Given the description of an element on the screen output the (x, y) to click on. 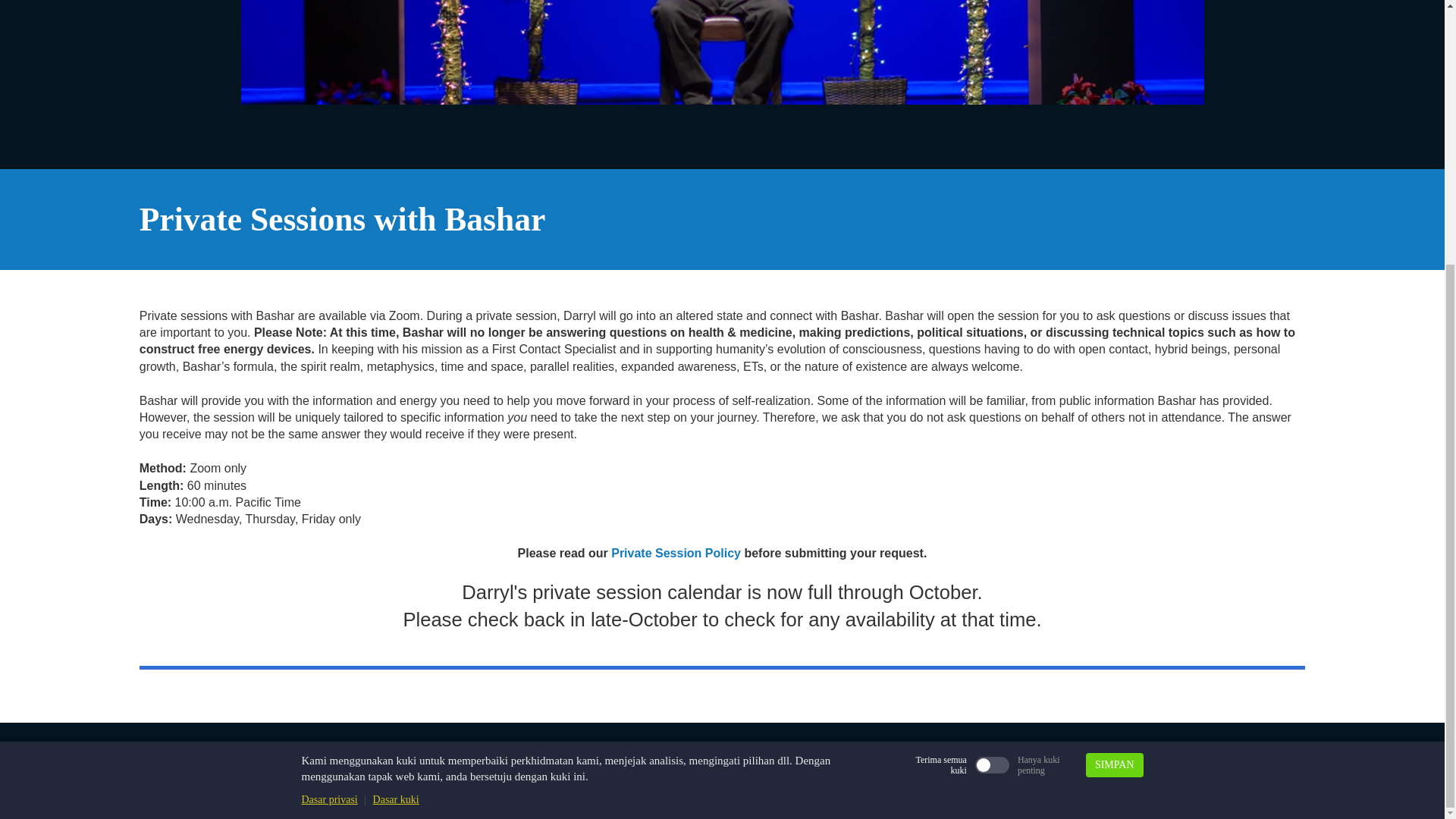
Dasar kuki (395, 417)
Private Session Policy (677, 553)
Dasar privasi (329, 417)
SIMPAN (1114, 382)
ABOUT (314, 784)
CONTACT (377, 784)
